Given the description of an element on the screen output the (x, y) to click on. 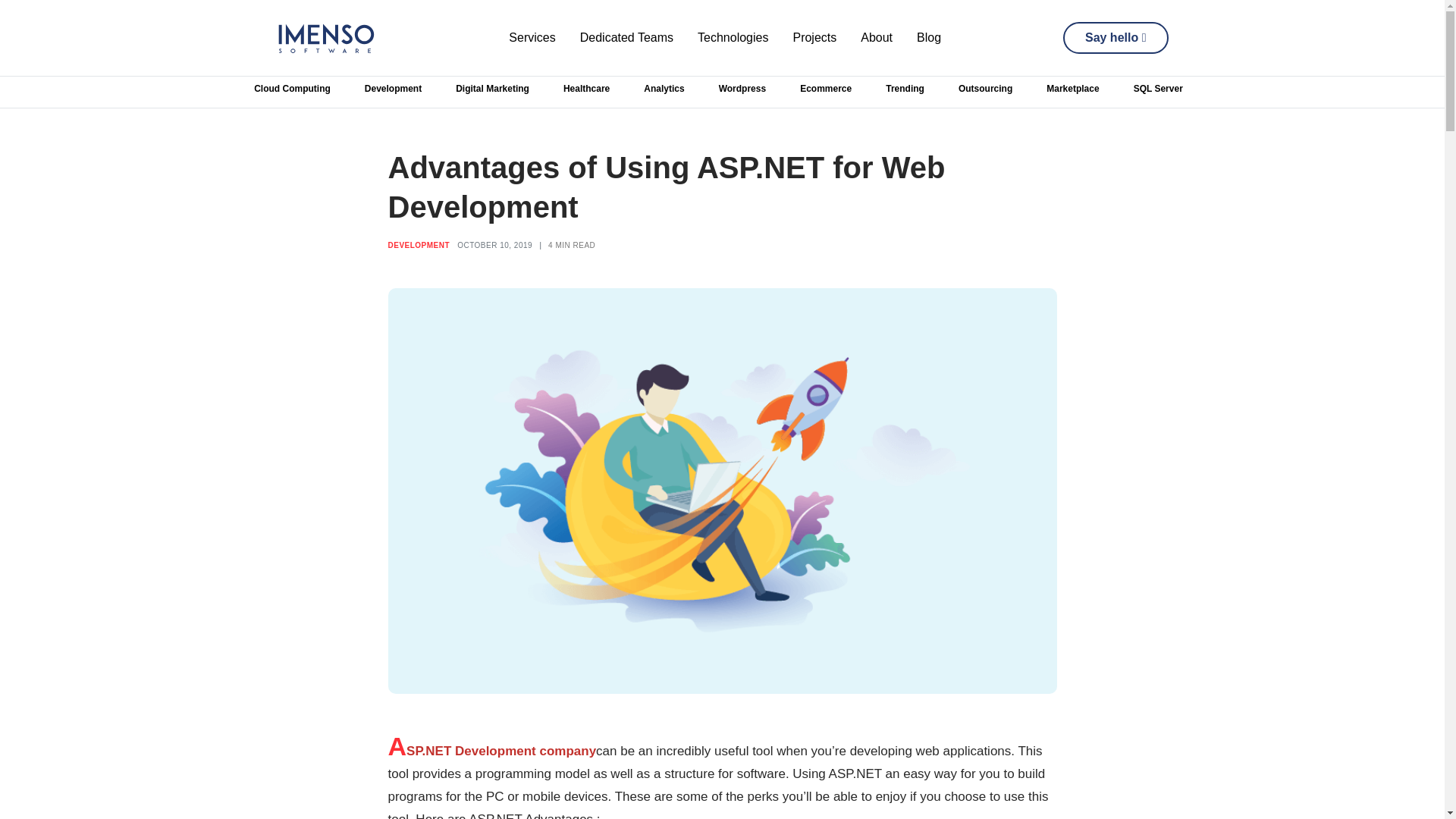
.NET Developers (317, 60)
MEAN Stack Developers (558, 60)
ECommerce Development (563, 60)
WooCommerce Developers (565, 60)
Android Developers (769, 60)
Tableau Consultants (771, 60)
Software Development Company (1013, 94)
Mobile App Development (1013, 84)
Codeigniter Developers (333, 60)
React Native Developers (782, 60)
